Given the description of an element on the screen output the (x, y) to click on. 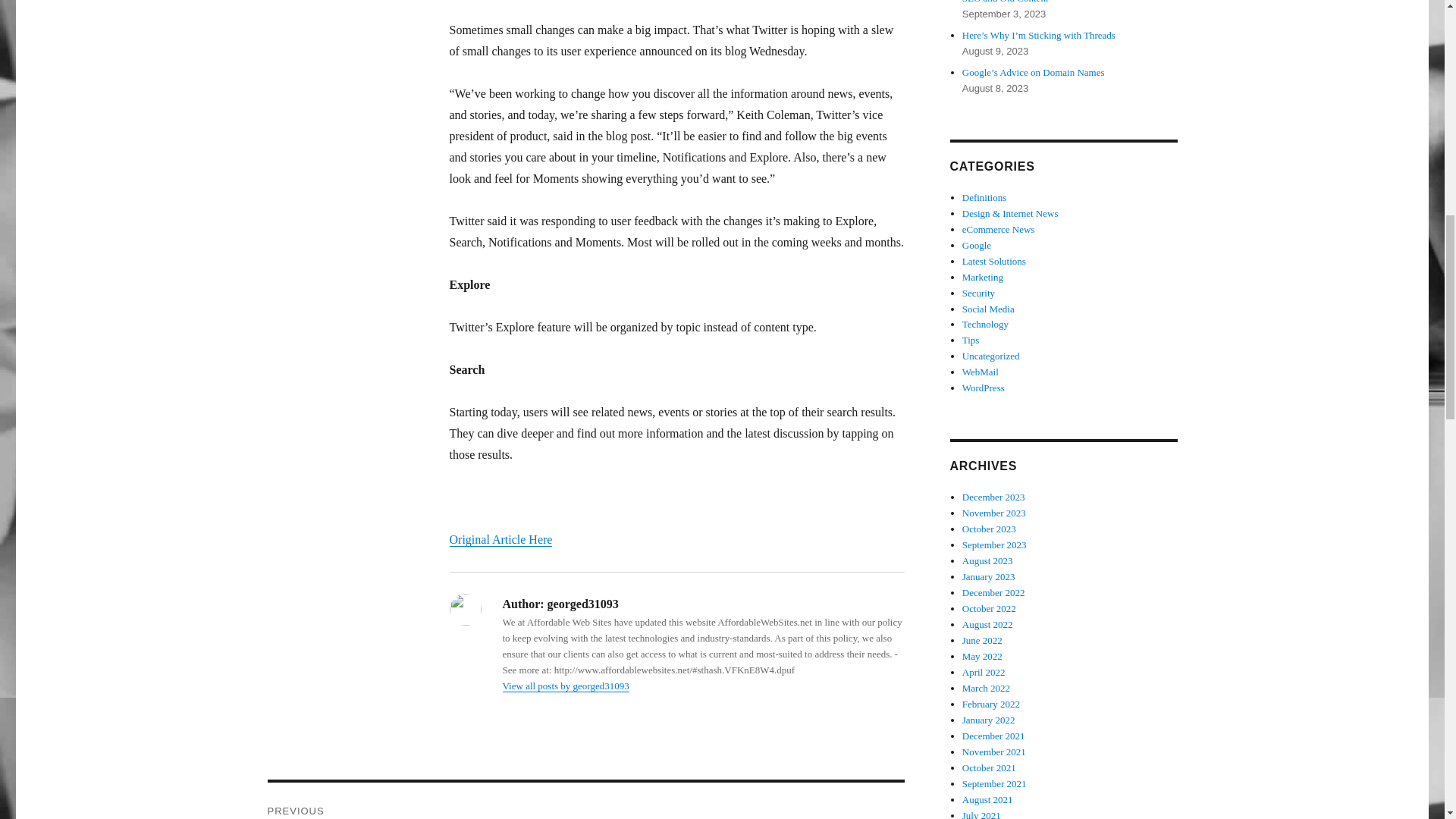
Uncategorized (991, 355)
Tips (970, 339)
Social Media (988, 308)
Google (976, 244)
Latest Solutions (994, 260)
SEO and Old Content (1005, 2)
eCommerce News (998, 229)
Security (978, 292)
View all posts by georged31093 (565, 685)
Technology (985, 324)
